Given the description of an element on the screen output the (x, y) to click on. 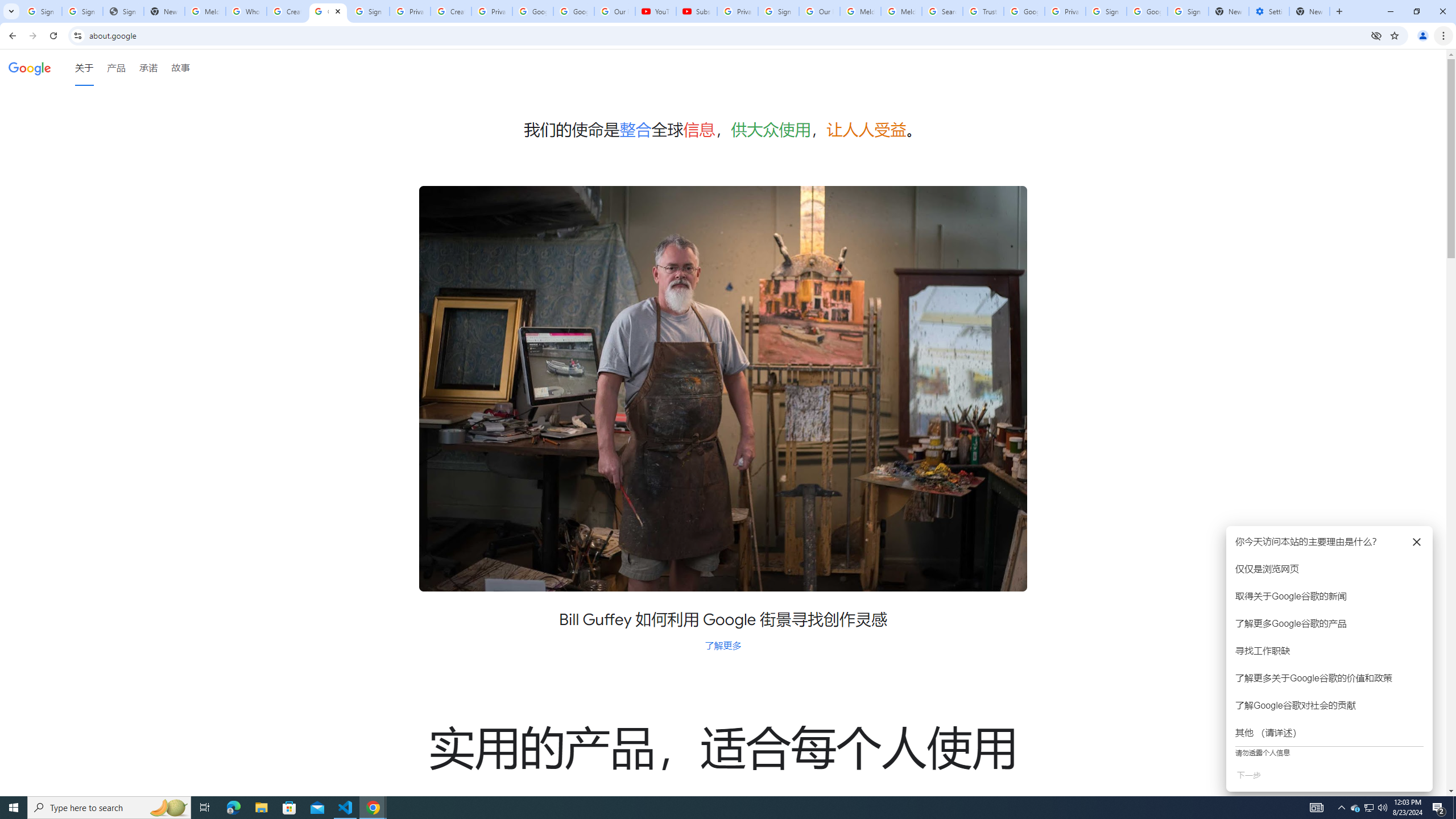
Google Account (573, 11)
